Given the description of an element on the screen output the (x, y) to click on. 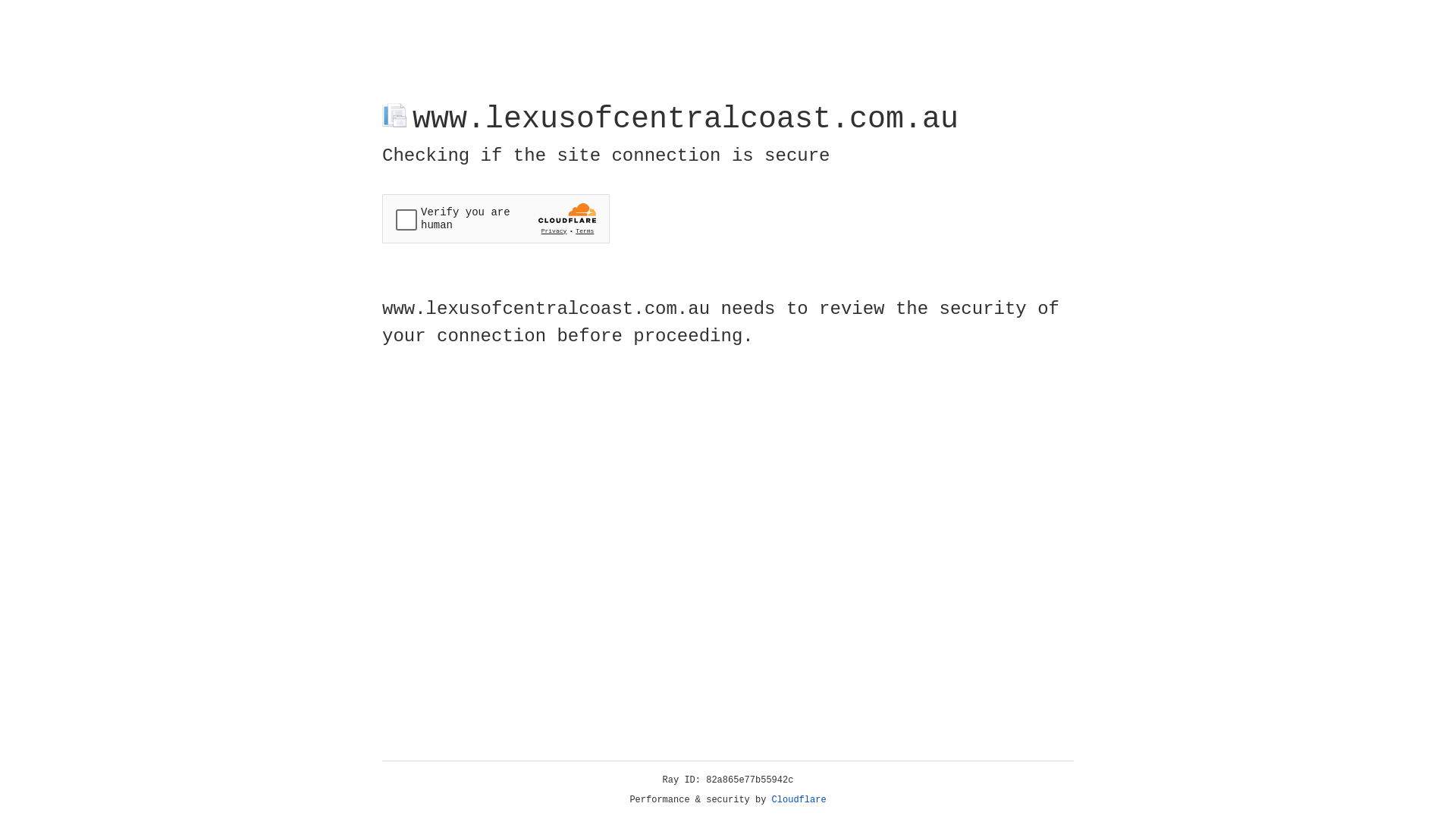
Cloudflare Element type: text (798, 799)
Widget containing a Cloudflare security challenge Element type: hover (495, 218)
